Given the description of an element on the screen output the (x, y) to click on. 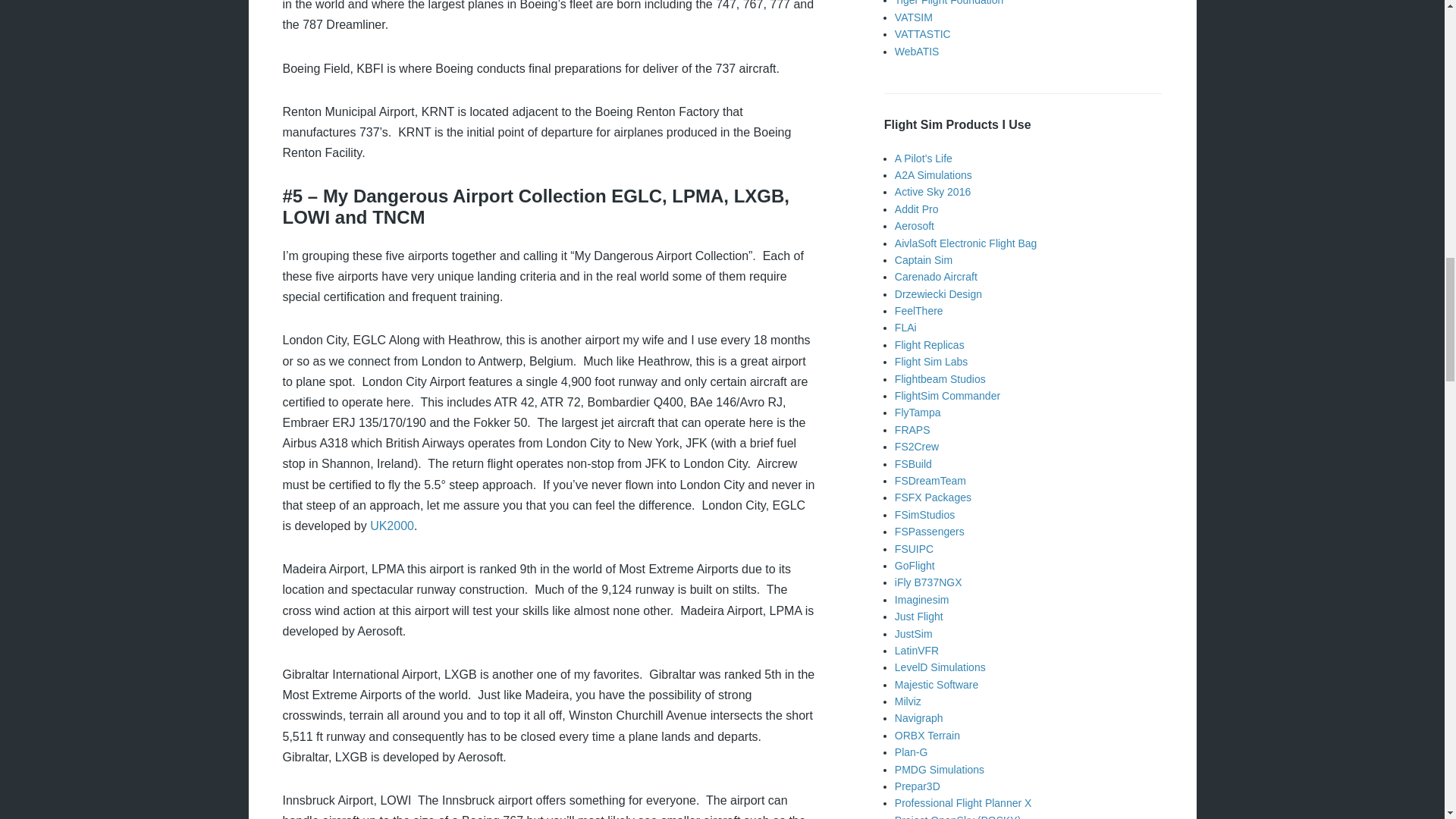
UK2000 (391, 525)
